Given the description of an element on the screen output the (x, y) to click on. 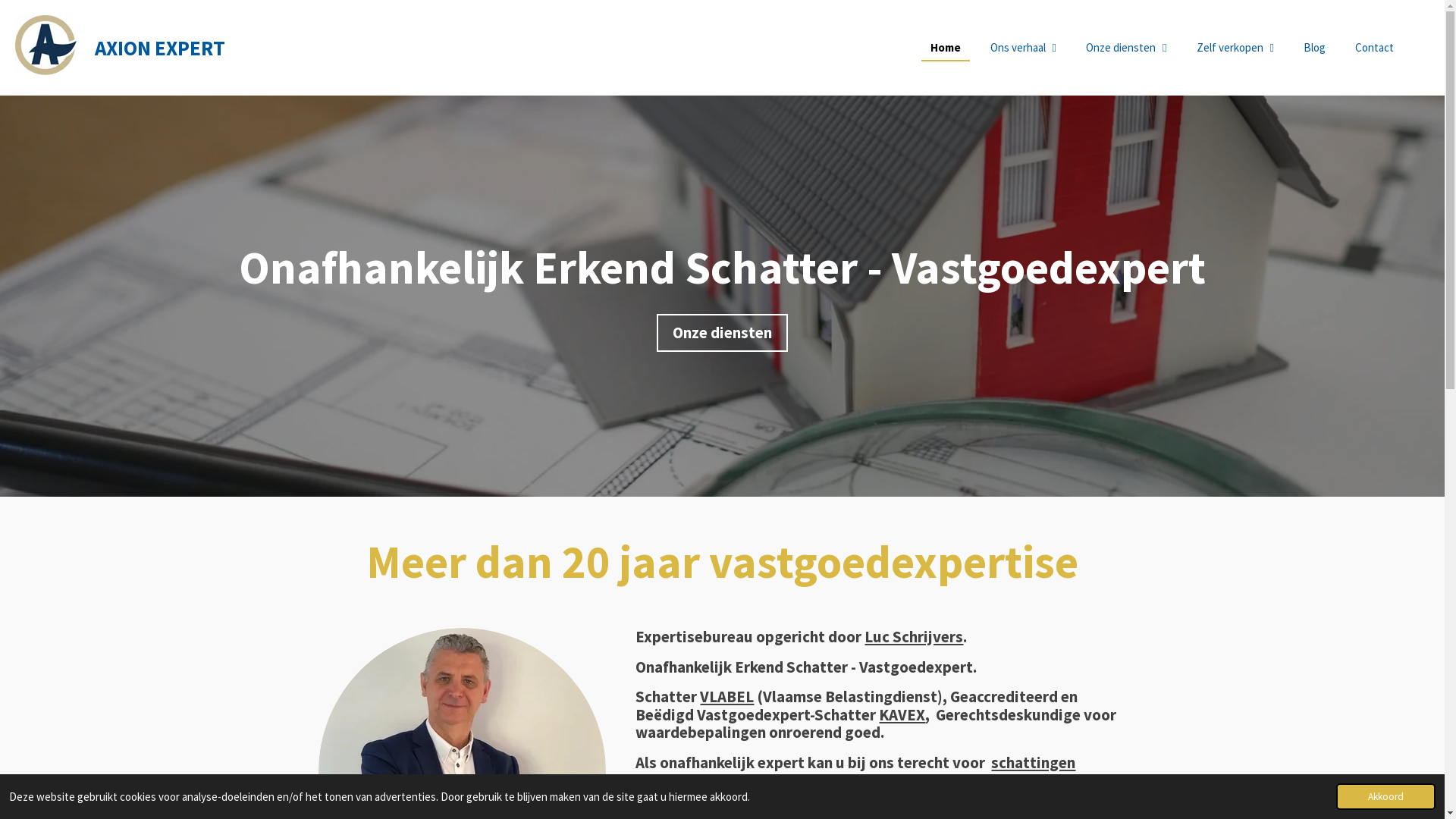
Axion Expert Element type: hover (47, 45)
Onze diensten Element type: text (721, 332)
schattingen Element type: text (1033, 762)
Ons verhaal Element type: text (1023, 46)
Luc Schrijvers Element type: text (913, 636)
VLABEL Element type: text (726, 696)
KAVEX Element type: text (901, 714)
Akkoord Element type: text (1385, 796)
Blog Element type: text (1314, 46)
plaatsbeschrijvingen Element type: text (729, 779)
Zelf verkopen Element type: text (1235, 46)
Contact Element type: text (1374, 46)
Onze diensten Element type: text (1125, 46)
Home Element type: text (945, 46)
